Given the description of an element on the screen output the (x, y) to click on. 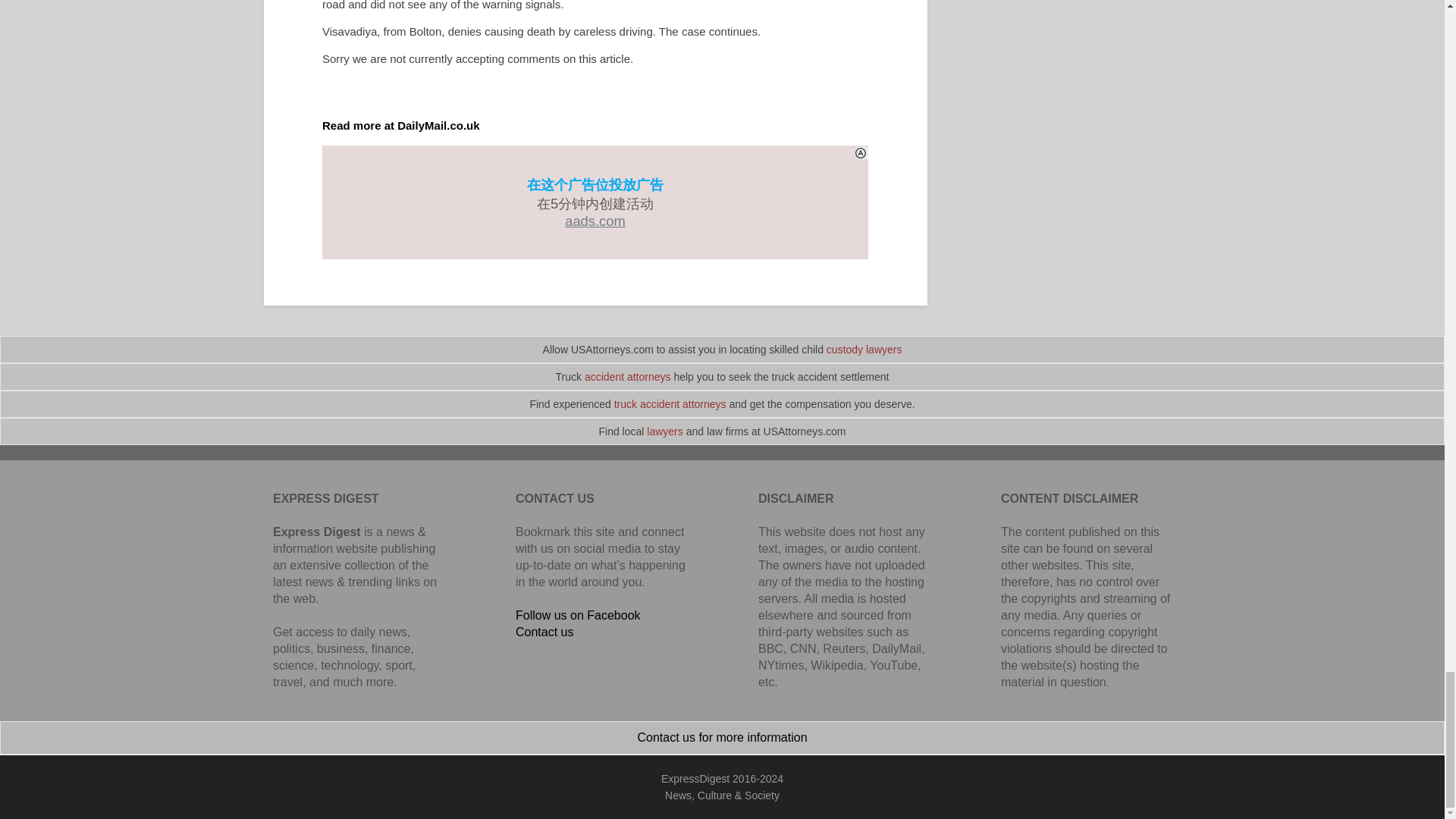
custody lawyers (864, 349)
lawyers (664, 431)
accident attorneys (628, 377)
Read more at DailyMail.co.uk (400, 124)
truck accident attorneys (670, 404)
